Given the description of an element on the screen output the (x, y) to click on. 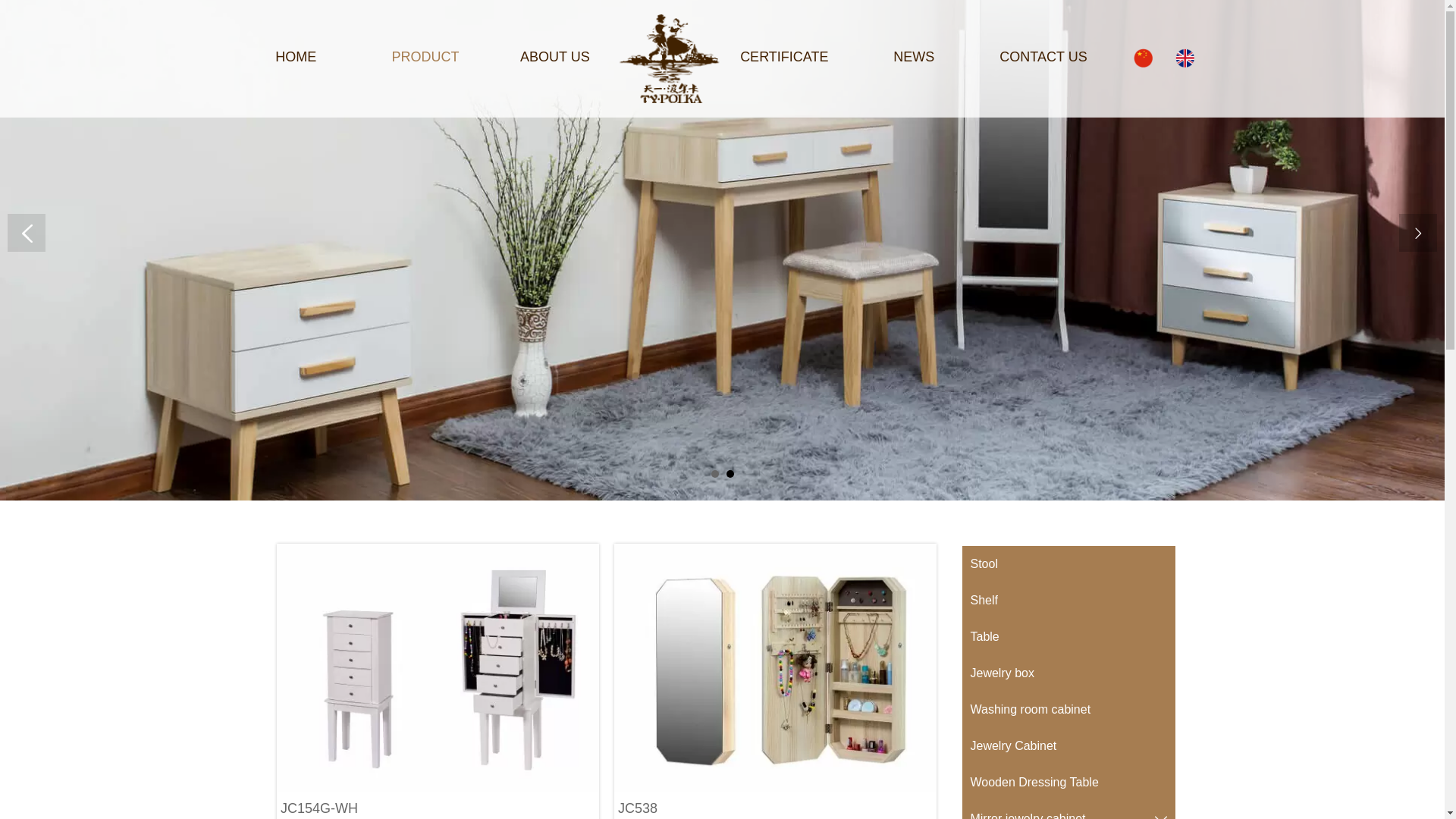
1 Element type: text (714, 473)
Shelf Element type: text (1068, 600)
JC538 Element type: hover (775, 667)
Jewelry box Element type: text (1068, 673)
Wooden Dressing Table Element type: text (1068, 782)
Stool Element type: text (1068, 564)
CONTACT US Element type: text (1043, 57)
JC154G-WH Element type: hover (437, 667)
NEWS Element type: text (913, 57)
2 Element type: text (730, 473)
ABOUT US Element type: text (554, 57)
Table Element type: text (1068, 636)
Washing room cabinet Element type: text (1068, 709)
PRODUCT Element type: text (425, 57)
HOME Element type: text (295, 57)
Jewelry Cabinet Element type: text (1068, 746)
CERTIFICATE Element type: text (783, 57)
